Given the description of an element on the screen output the (x, y) to click on. 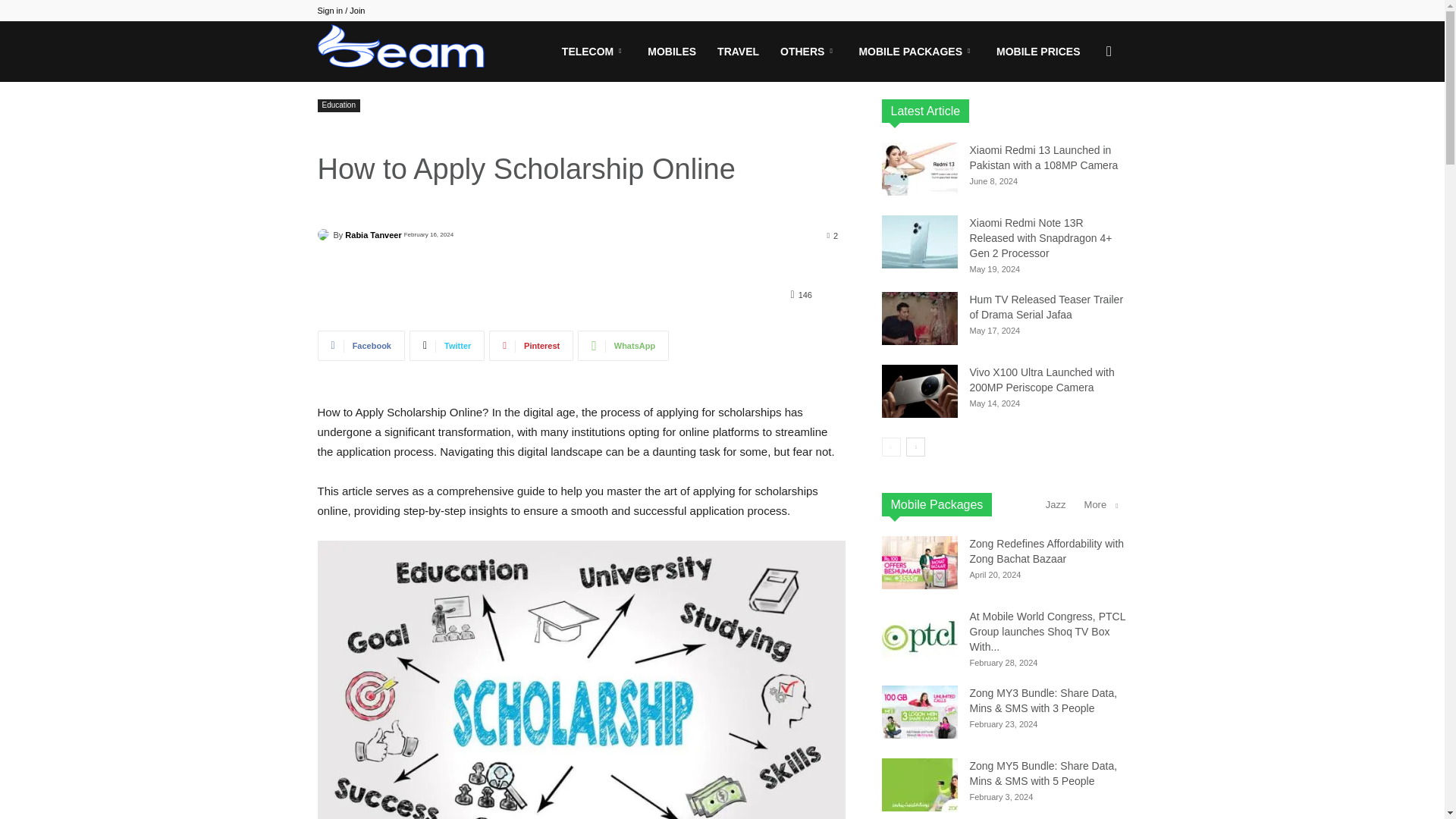
Pinterest (531, 345)
WhatsApp (623, 345)
Twitter (446, 345)
Facebook (360, 345)
Rabia Tanveer (325, 234)
